Given the description of an element on the screen output the (x, y) to click on. 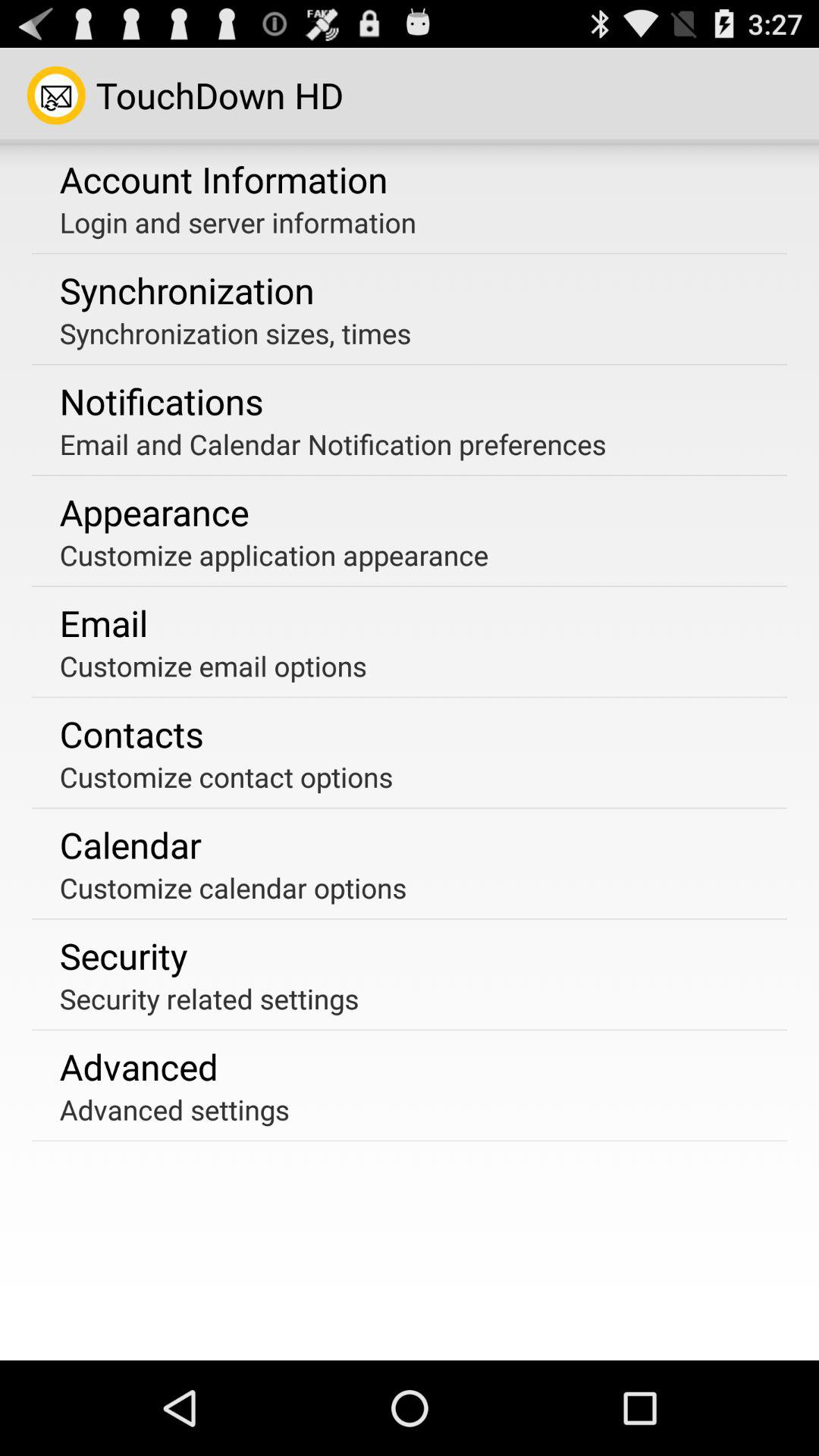
open the account information app (223, 179)
